Given the description of an element on the screen output the (x, y) to click on. 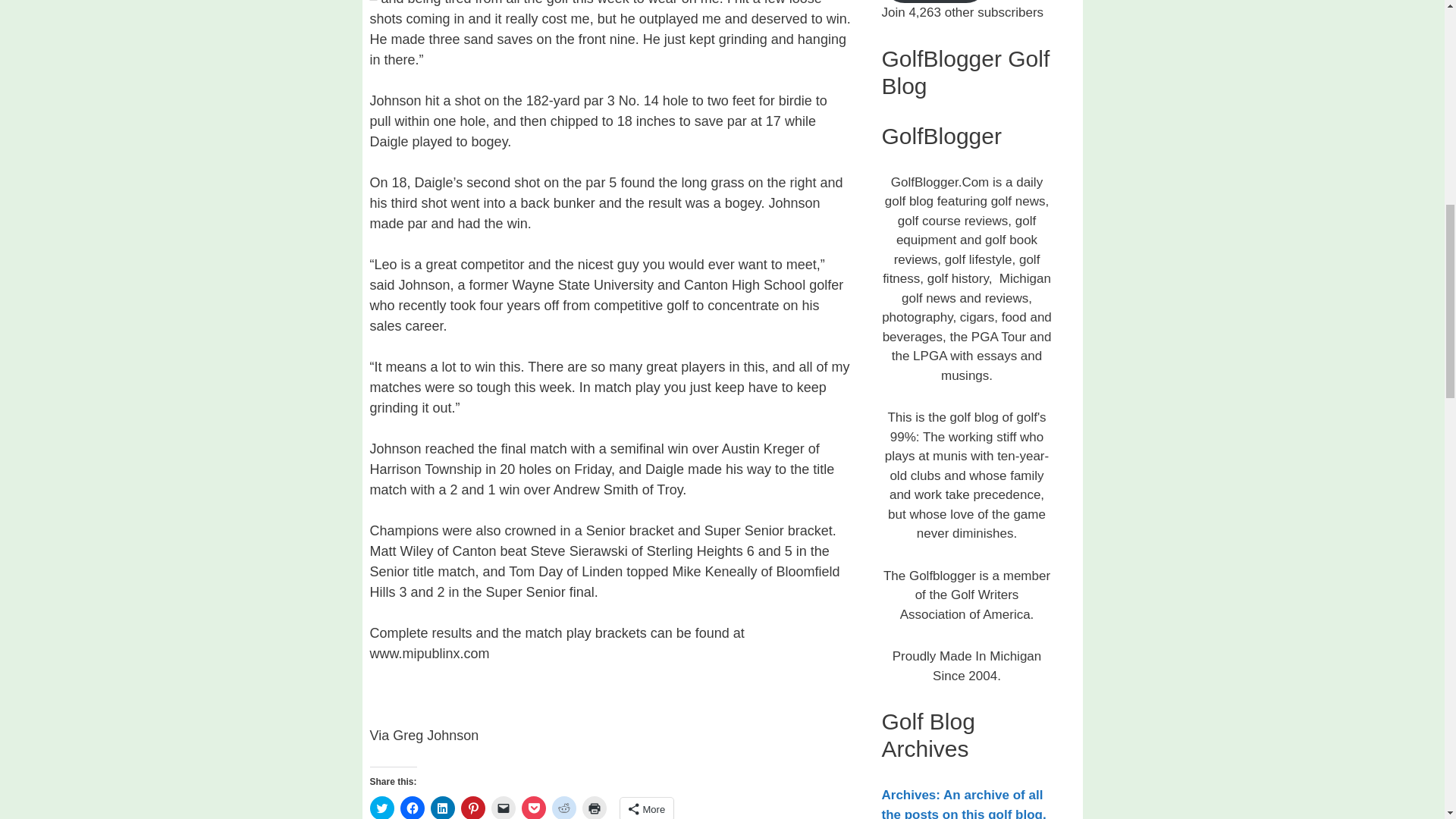
Click to share on LinkedIn (442, 807)
Click to share on Pocket (533, 807)
Click to print (594, 807)
More (647, 808)
Click to share on Reddit (563, 807)
Click to email a link to a friend (503, 807)
Click to share on Twitter (381, 807)
Click to share on Pinterest (472, 807)
Click to share on Facebook (412, 807)
